Given the description of an element on the screen output the (x, y) to click on. 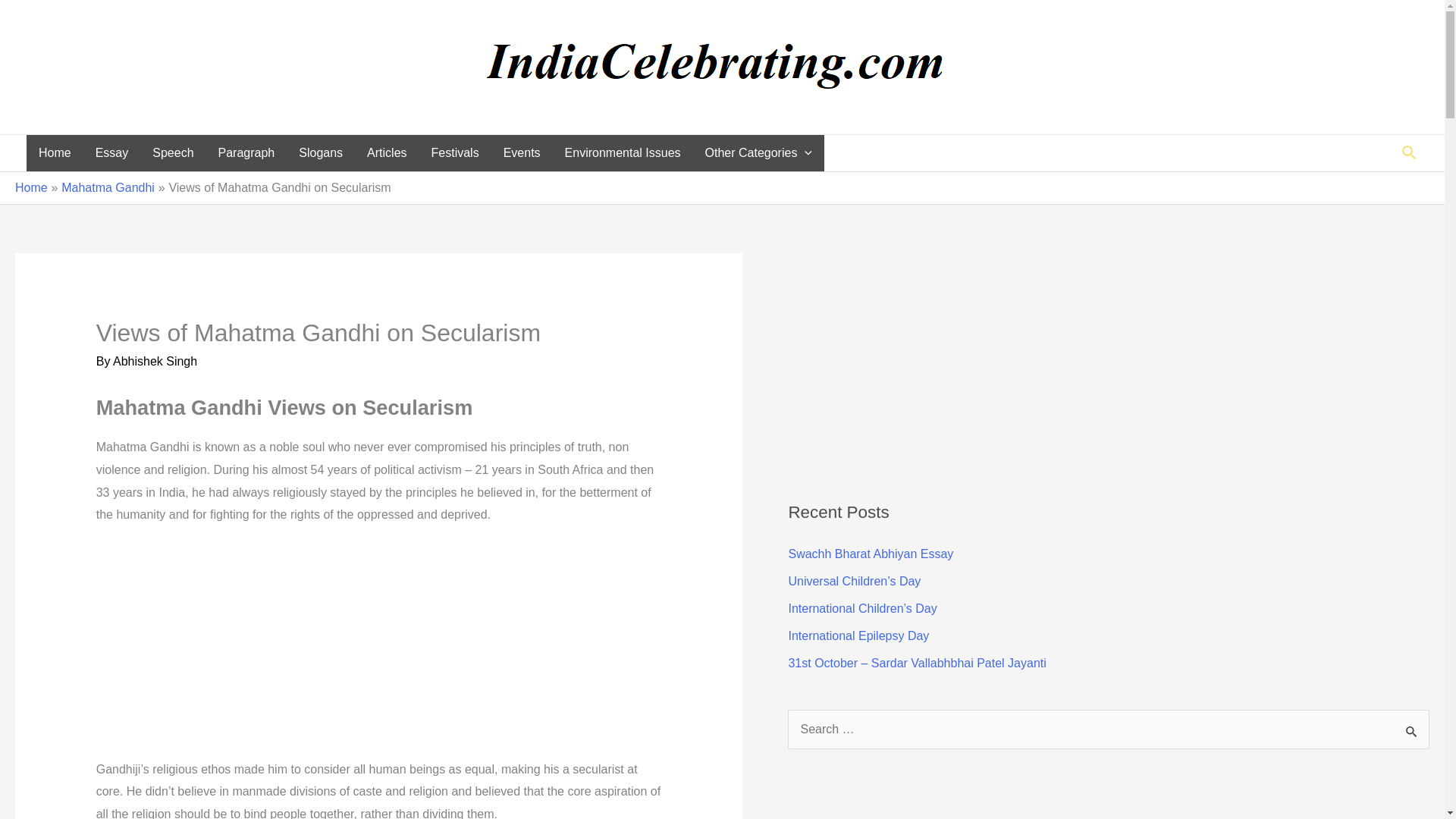
Other Categories (758, 153)
Mahatma Gandhi (107, 187)
Home (54, 153)
Essay (111, 153)
Environmental Issues (623, 153)
Slogans (320, 153)
Articles (387, 153)
Abhishek Singh (154, 360)
View all posts by Abhishek Singh (154, 360)
Events (522, 153)
